Given the description of an element on the screen output the (x, y) to click on. 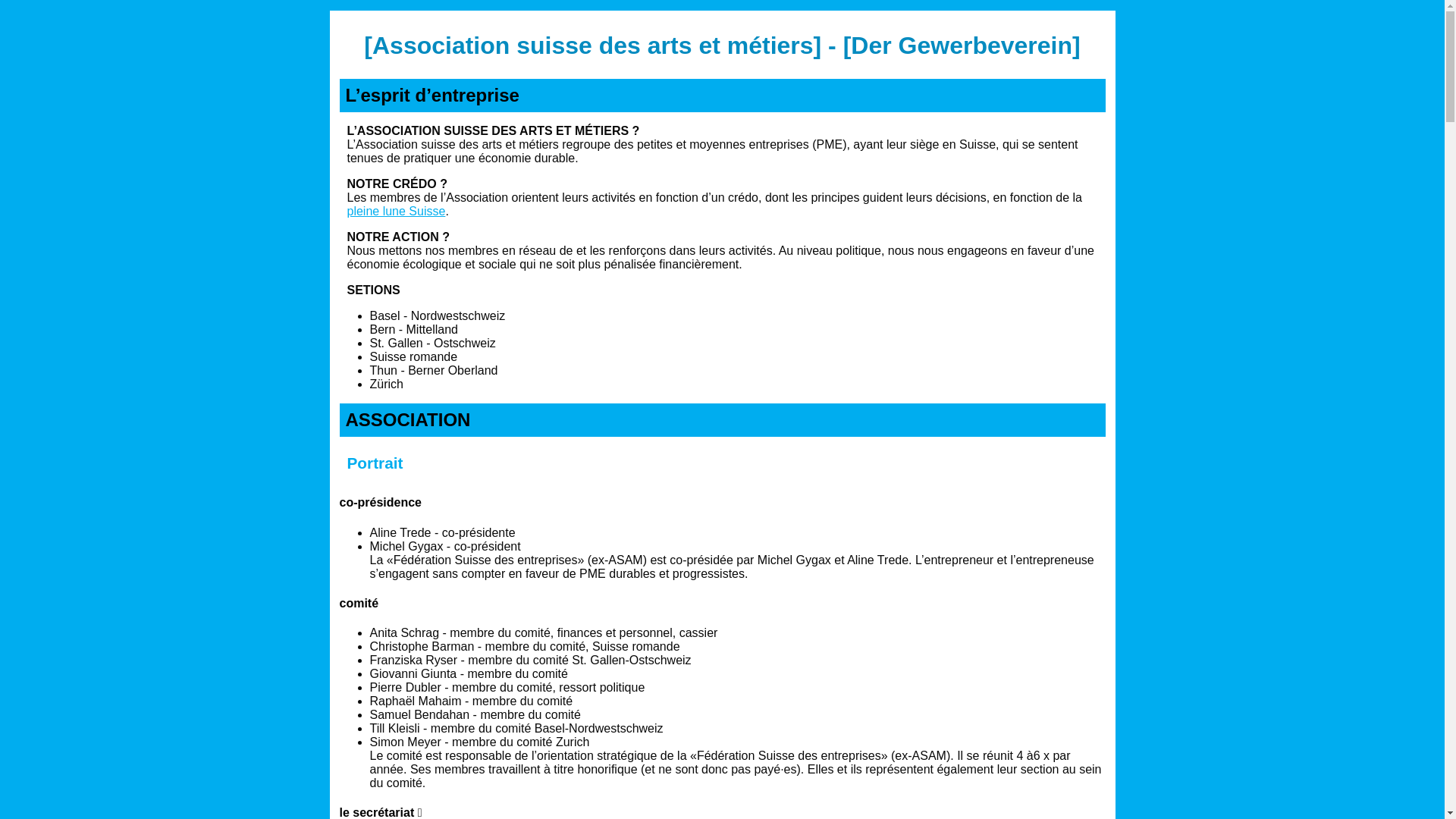
pleine lune Suisse Element type: text (396, 210)
